Given the description of an element on the screen output the (x, y) to click on. 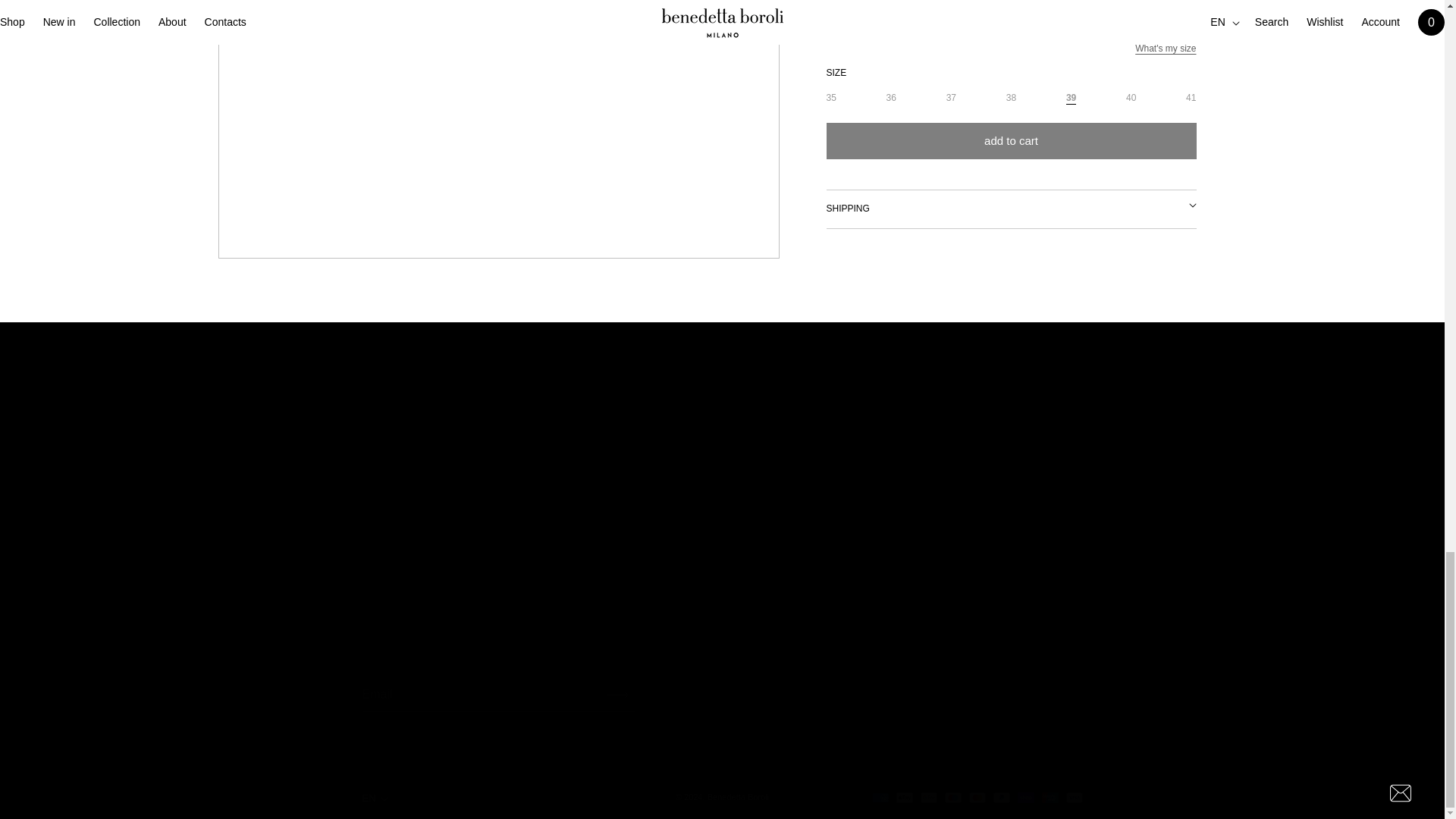
Email (722, 694)
